Given the description of an element on the screen output the (x, y) to click on. 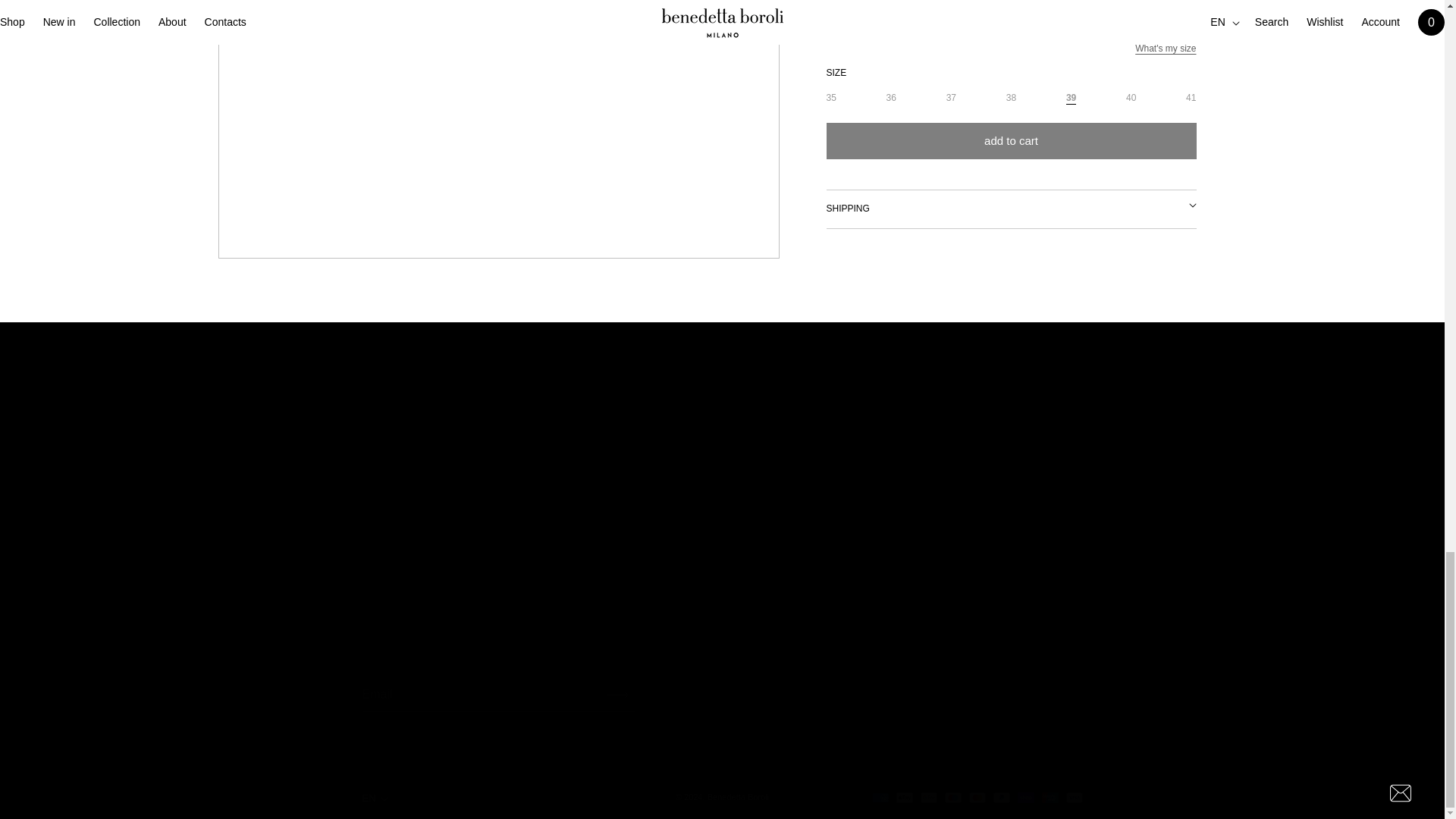
Email (722, 694)
